Given the description of an element on the screen output the (x, y) to click on. 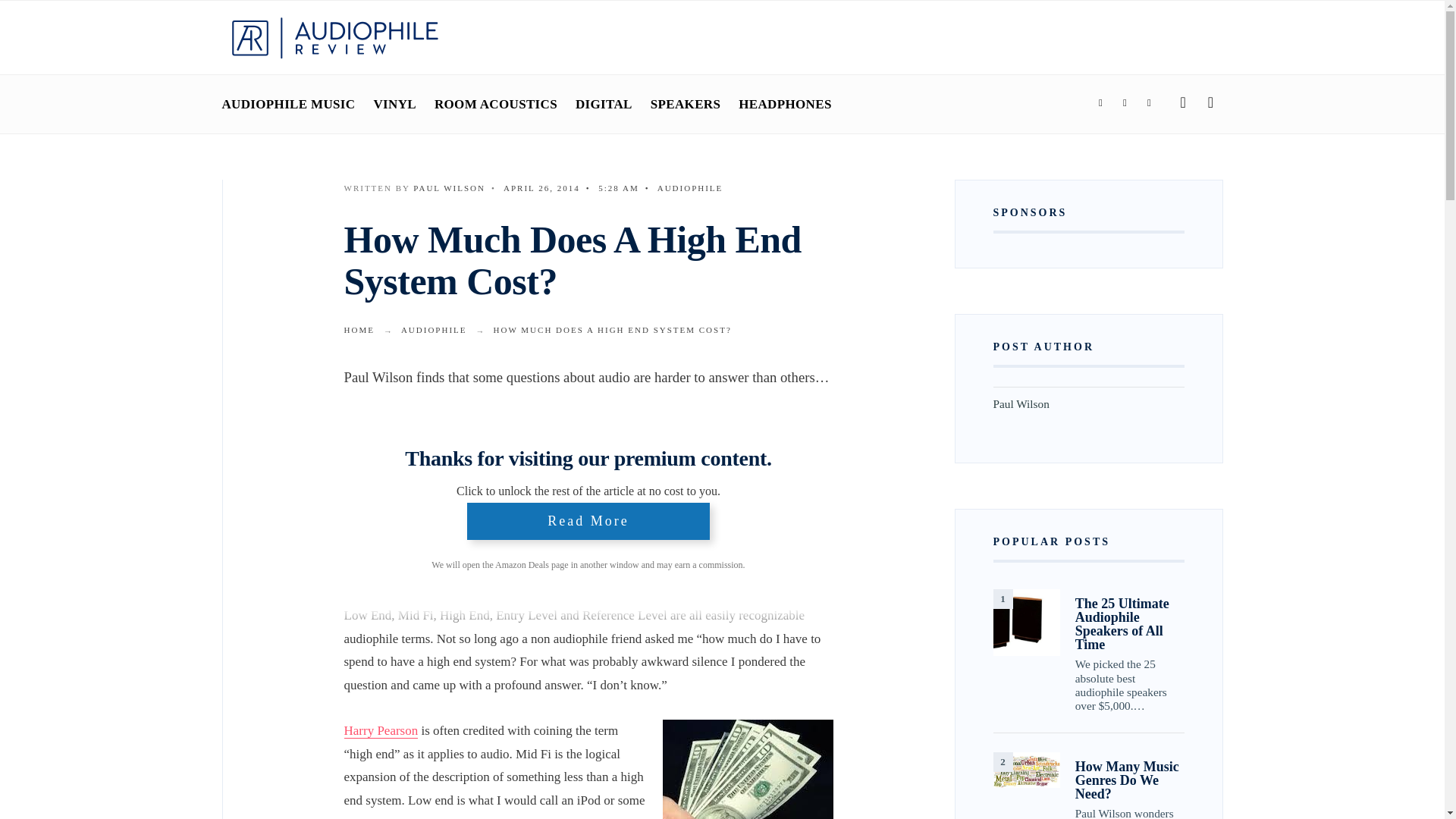
Instagram (1148, 103)
AUDIOPHILE MUSIC (288, 104)
Read More (588, 521)
HEADPHONES (784, 104)
HOME (358, 329)
VINYL (394, 104)
ROOM ACOUSTICS (495, 104)
Harry Pearson (381, 730)
How Many Music Genres Do We Need? (1130, 780)
SPEAKERS (685, 104)
